Given the description of an element on the screen output the (x, y) to click on. 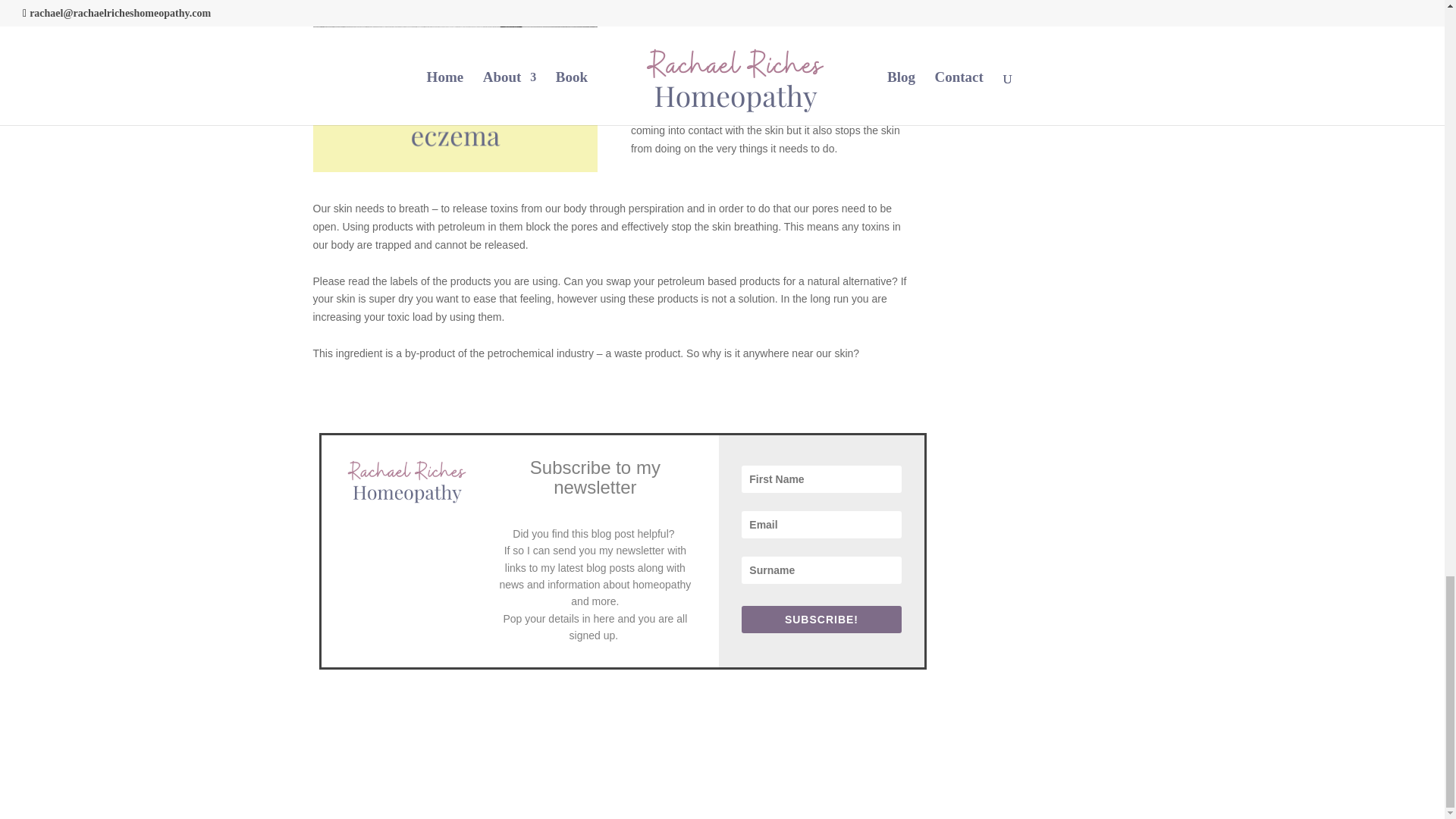
Maximum length: 169 characters. (821, 569)
SUBSCRIBE! (821, 619)
Petroleum Jelly (454, 86)
